Given the description of an element on the screen output the (x, y) to click on. 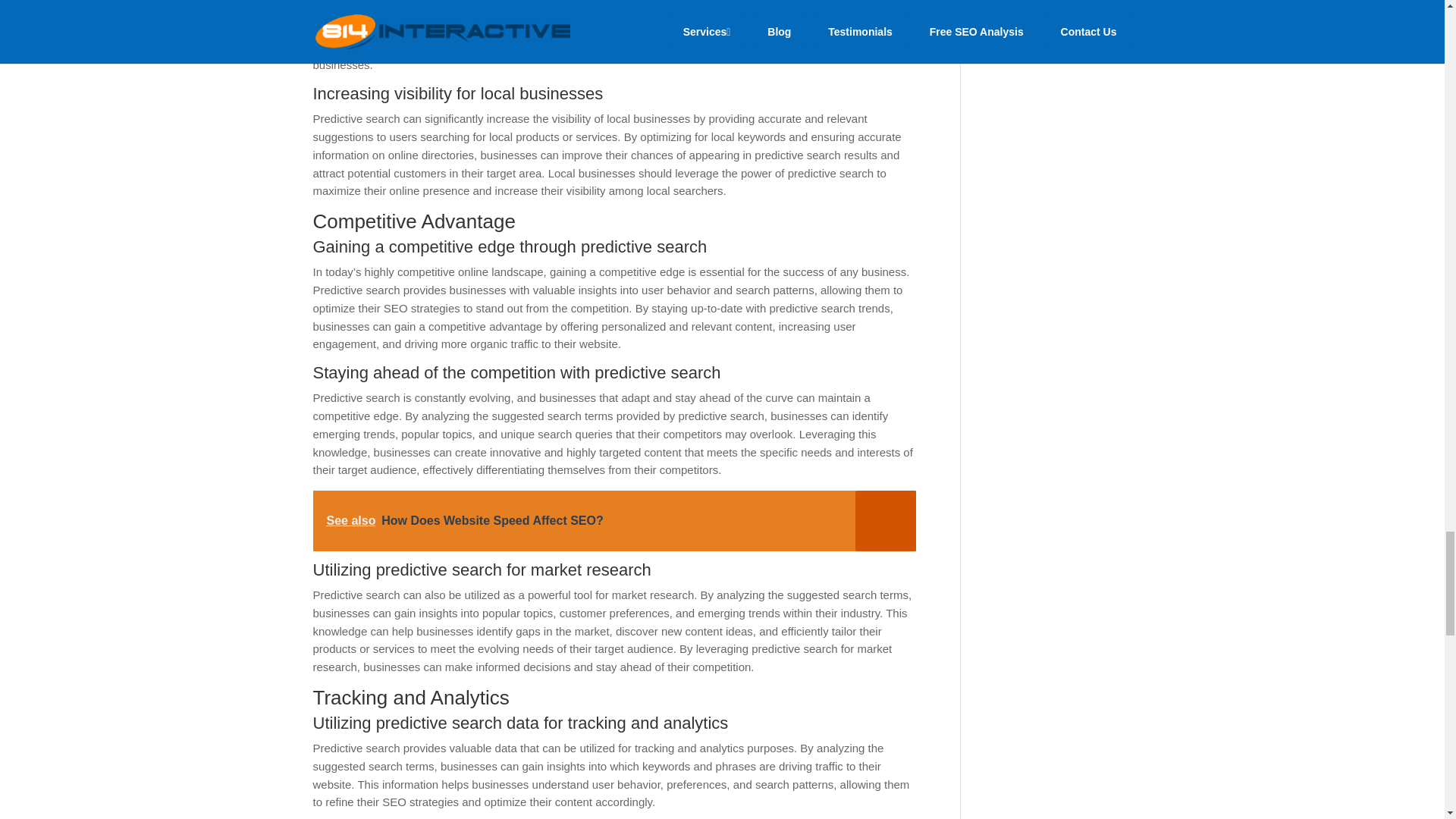
See also  How Does Website Speed Affect SEO? (614, 520)
